Given the description of an element on the screen output the (x, y) to click on. 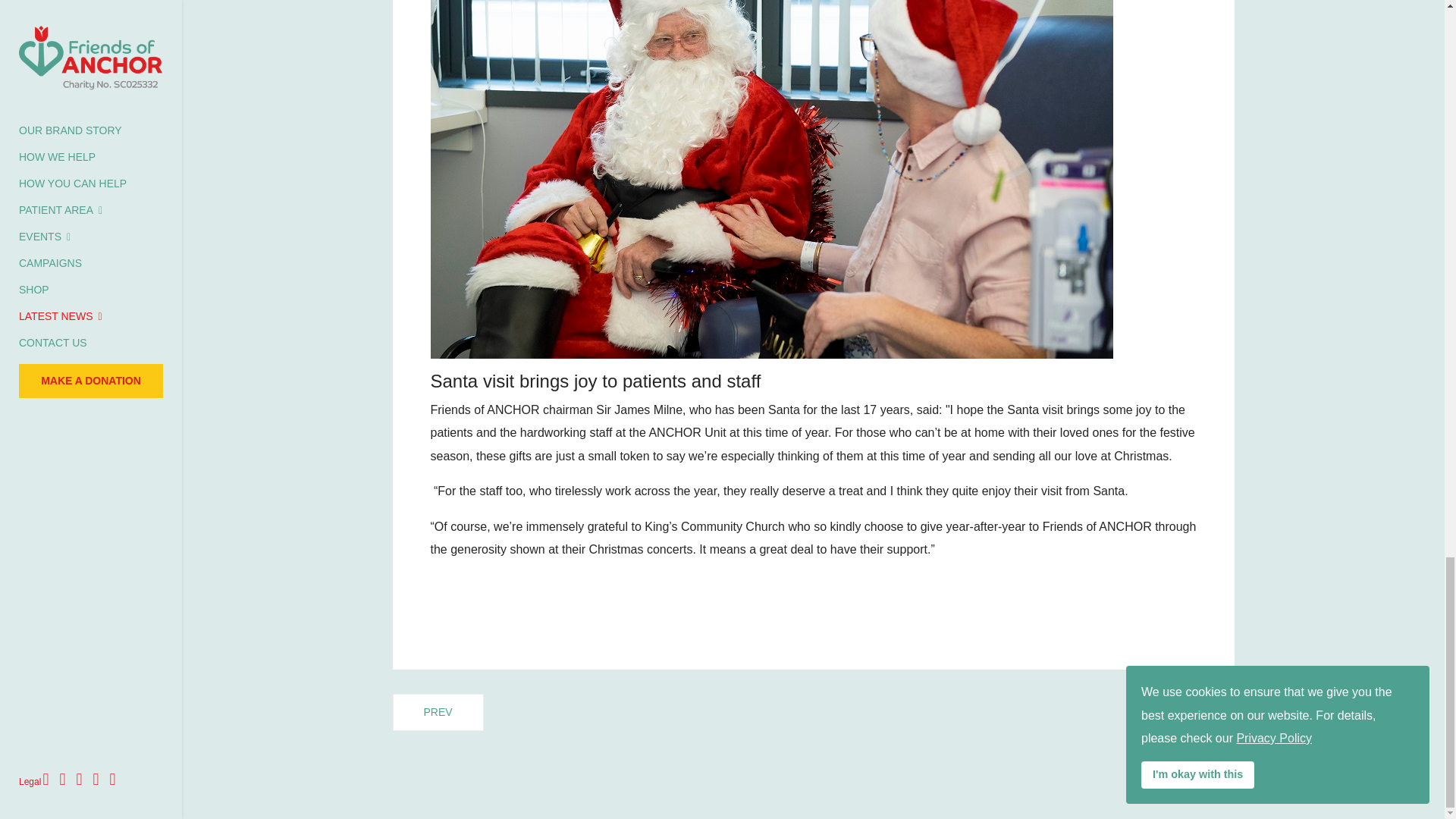
PREV (438, 712)
Could toenails help determine causes of blood cancer? (438, 712)
NEXT (1187, 712)
Run Garioch charity partner (1187, 712)
